Given the description of an element on the screen output the (x, y) to click on. 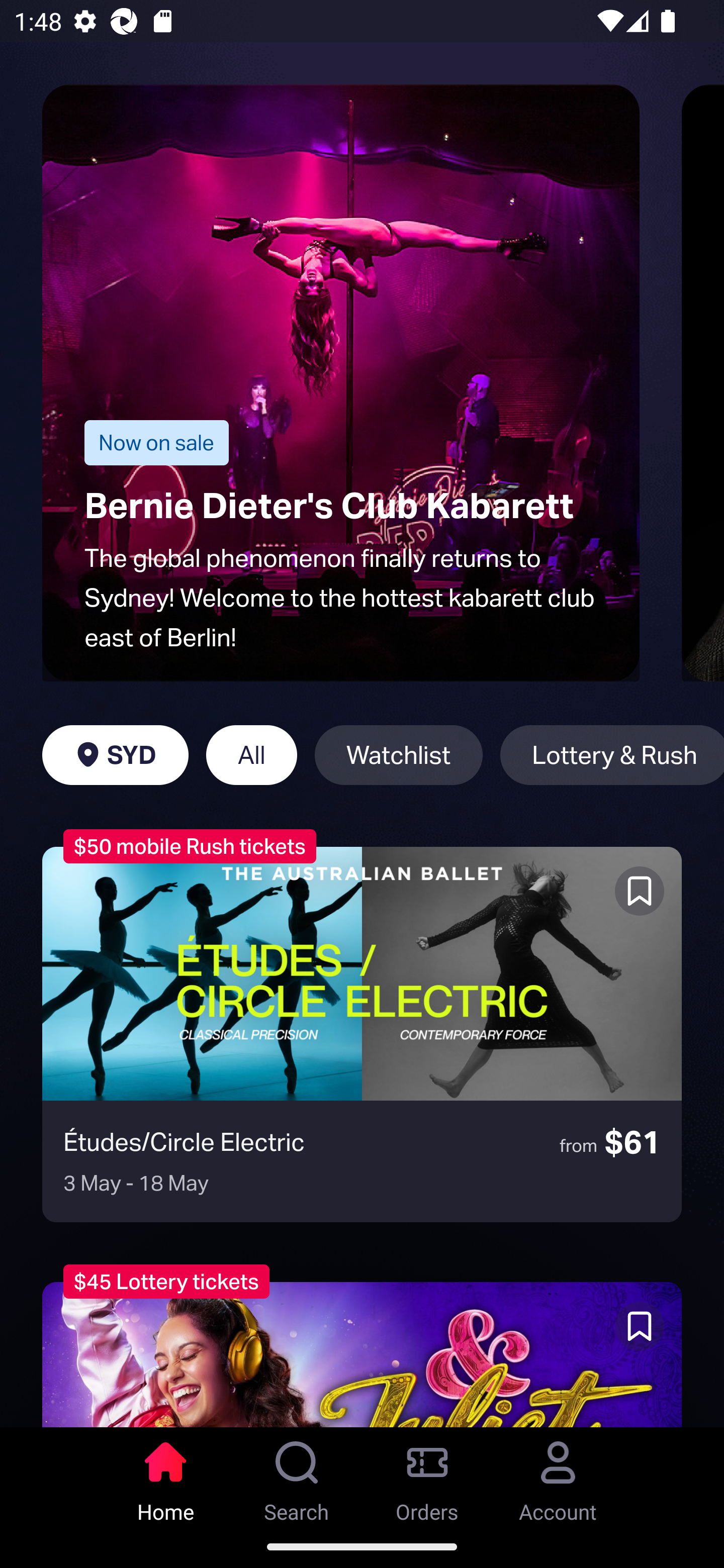
SYD (114, 754)
All (251, 754)
Watchlist (398, 754)
Lottery & Rush (612, 754)
Études/Circle Electric from $61 3 May - 18 May (361, 1033)
Search (296, 1475)
Orders (427, 1475)
Account (558, 1475)
